Given the description of an element on the screen output the (x, y) to click on. 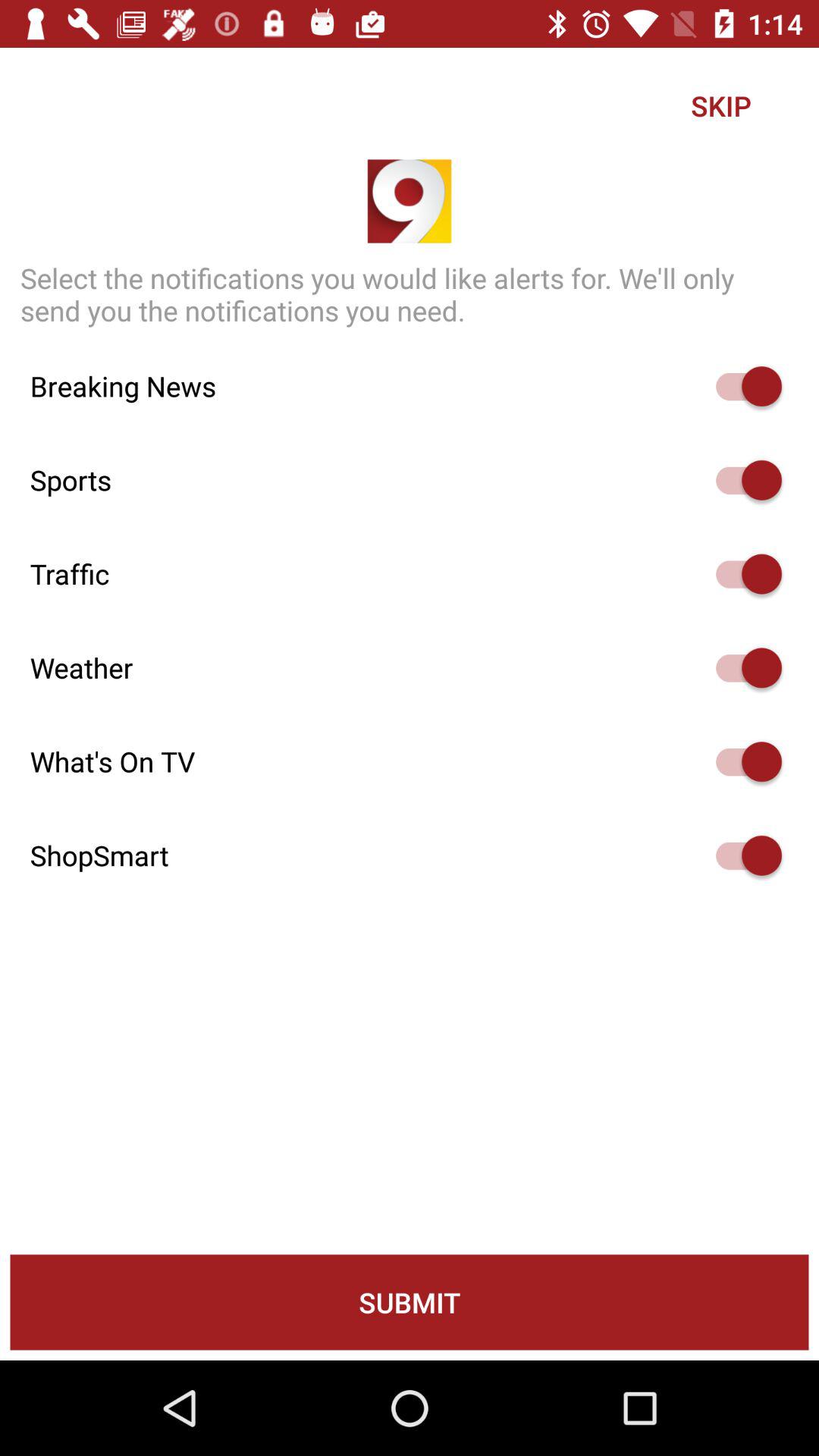
toggle breaking news (741, 386)
